Given the description of an element on the screen output the (x, y) to click on. 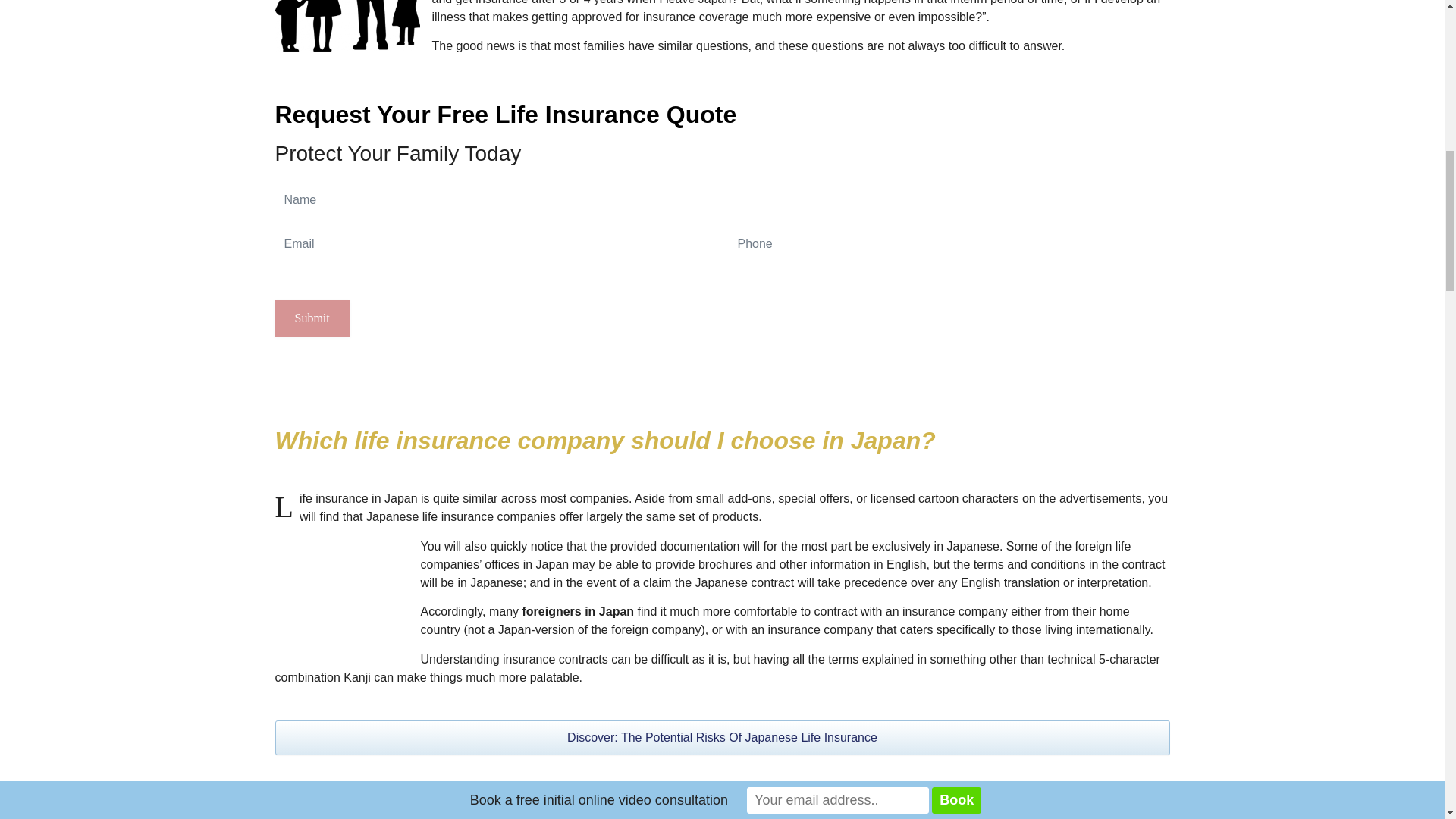
boy 2027487 640 1 (347, 25)
man 1459246 640 (341, 600)
Submit (312, 318)
Discover: The Potential Risks Of Japanese Life Insurance (722, 737)
Submit (312, 318)
